Given the description of an element on the screen output the (x, y) to click on. 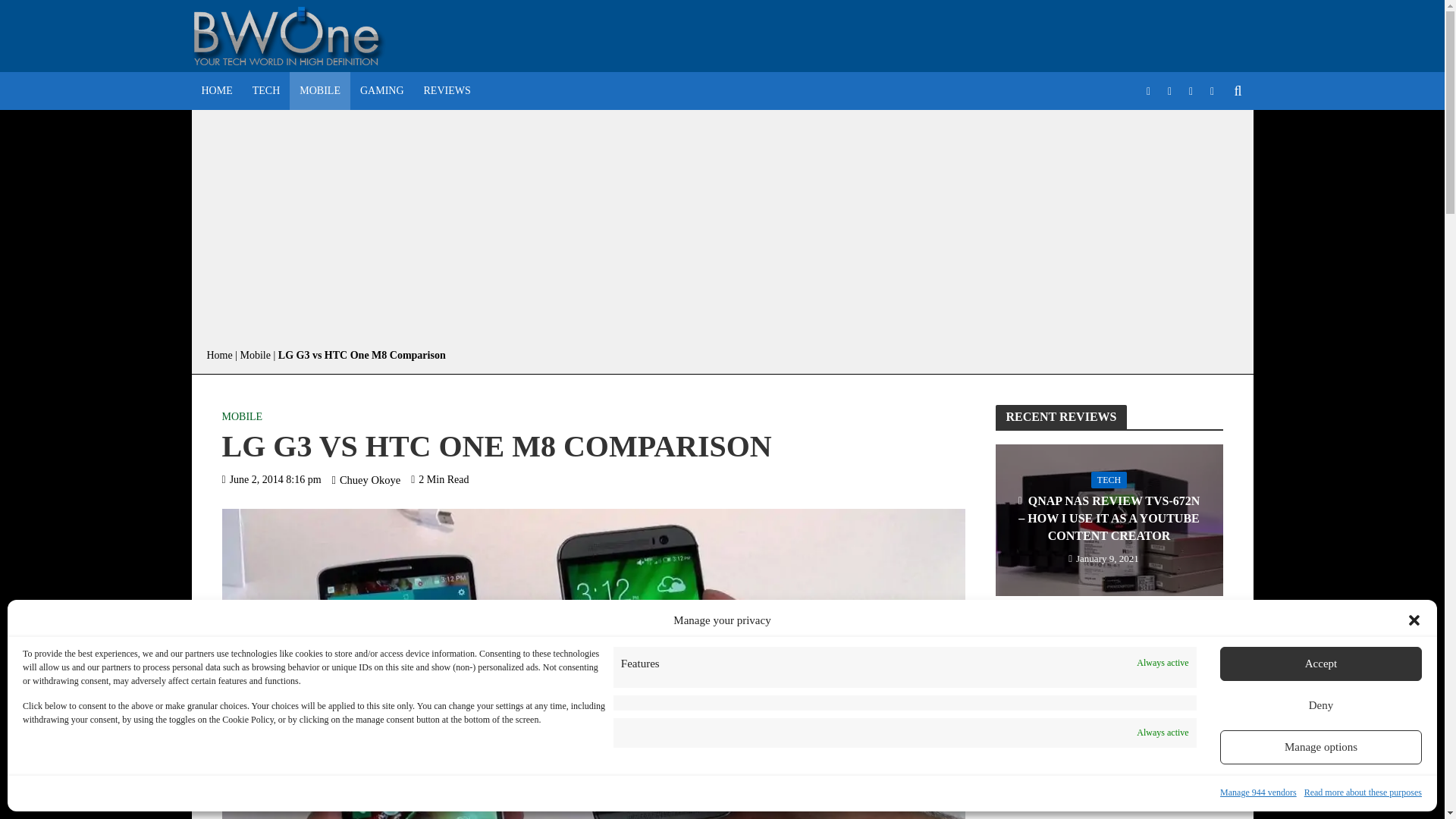
REVIEWS (446, 90)
TECH (266, 90)
Accept (1321, 663)
Read more about these purposes (1363, 792)
MOBILE (319, 90)
Deny (1321, 705)
HOME (215, 90)
Manage 944 vendors (1258, 792)
GAMING (381, 90)
HyperX Pudding Keycaps Setup And Review: Great RGB Upgrade (1108, 711)
Manage options (1321, 747)
